Given the description of an element on the screen output the (x, y) to click on. 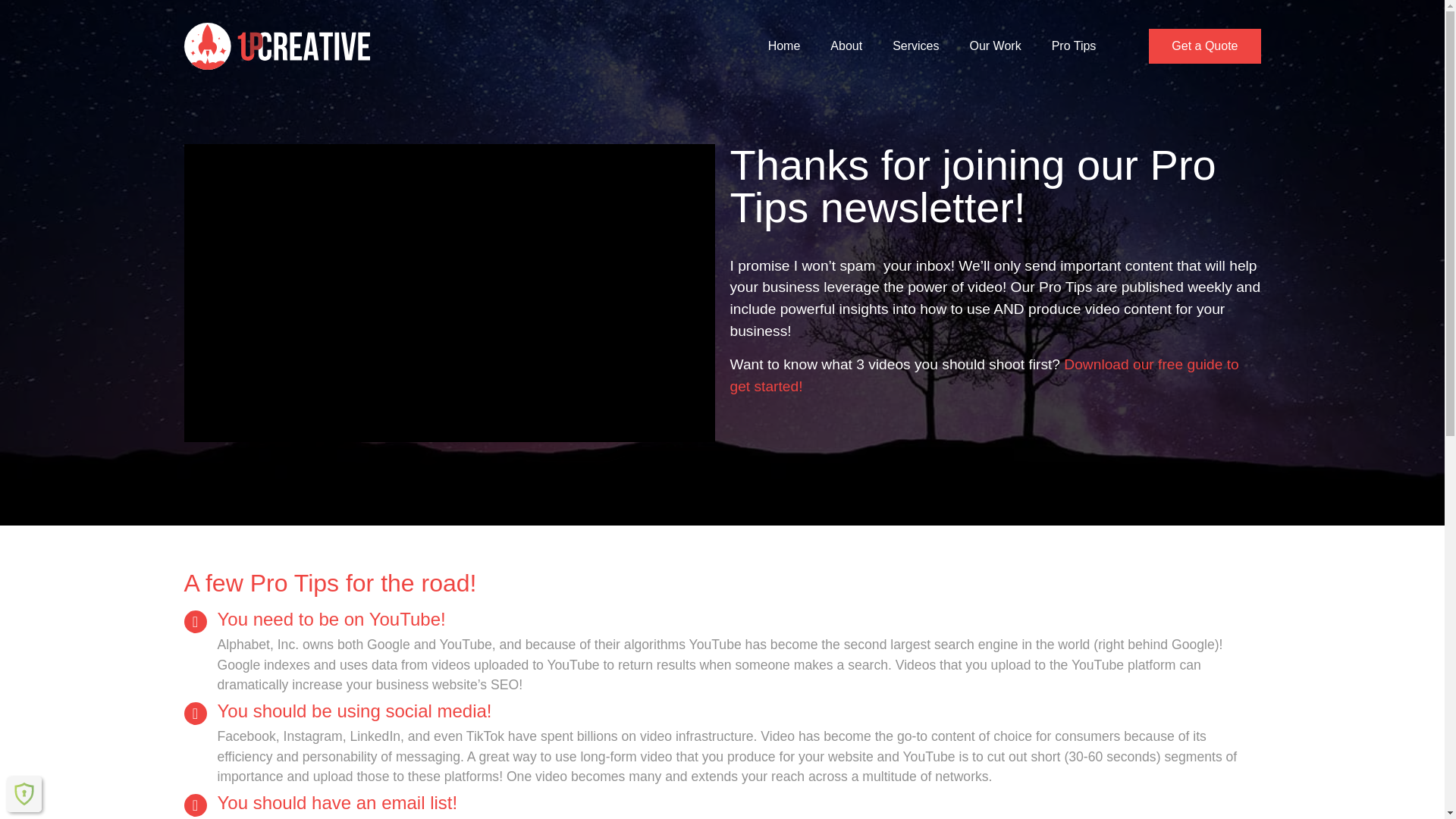
Download our free guide to get started! (984, 374)
Home (783, 45)
About (846, 45)
Get a Quote (1204, 45)
Services (915, 45)
Shield Security (23, 793)
Pro Tips (1074, 45)
Our Work (994, 45)
